Given the description of an element on the screen output the (x, y) to click on. 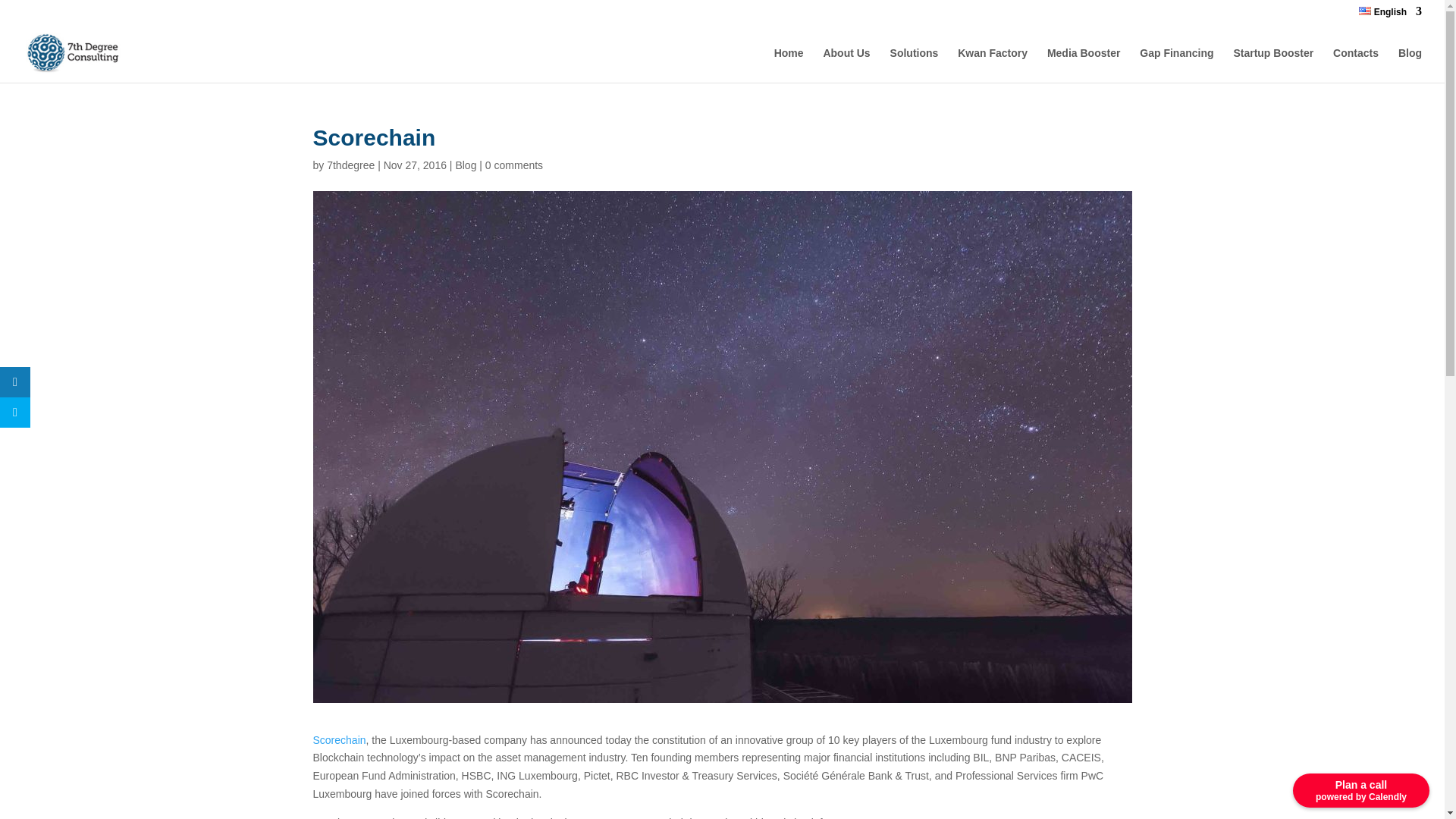
Media Booster (1082, 64)
Blog (465, 164)
Posts by 7thdegree (350, 164)
Kwan Factory (992, 64)
Contacts (1355, 64)
About Us (845, 64)
Startup Booster (1273, 52)
0 comments (513, 164)
English (1390, 14)
7thdegree (350, 164)
